Given the description of an element on the screen output the (x, y) to click on. 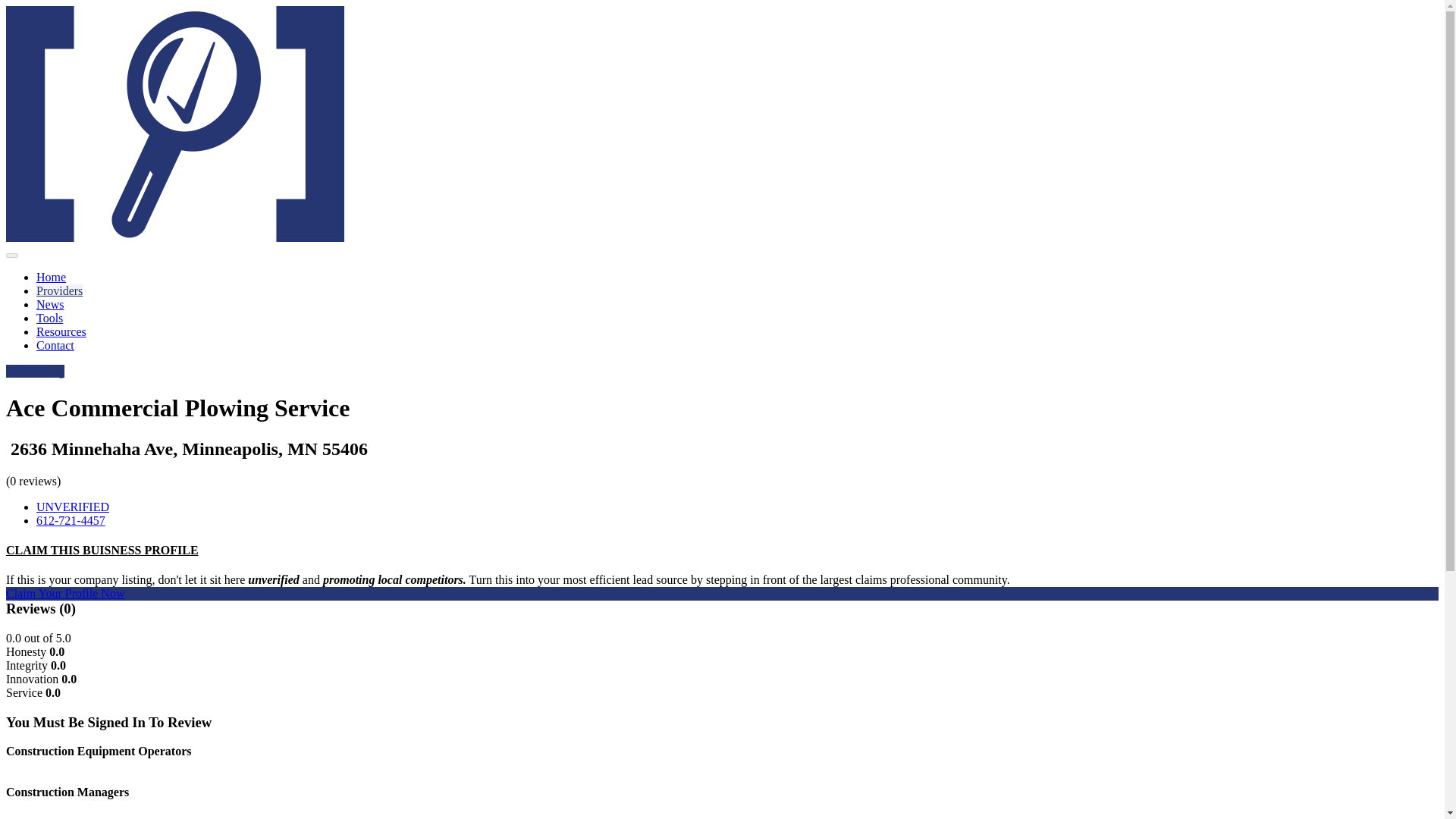
Tools (49, 318)
Contact Ace Commercial Plowing Service via Phone (70, 520)
News (50, 304)
Providers (59, 290)
UNVERIFIED (72, 506)
Home (50, 277)
Resources (60, 331)
612-721-4457 (70, 520)
Contact (55, 345)
Add Listing (34, 370)
